Given the description of an element on the screen output the (x, y) to click on. 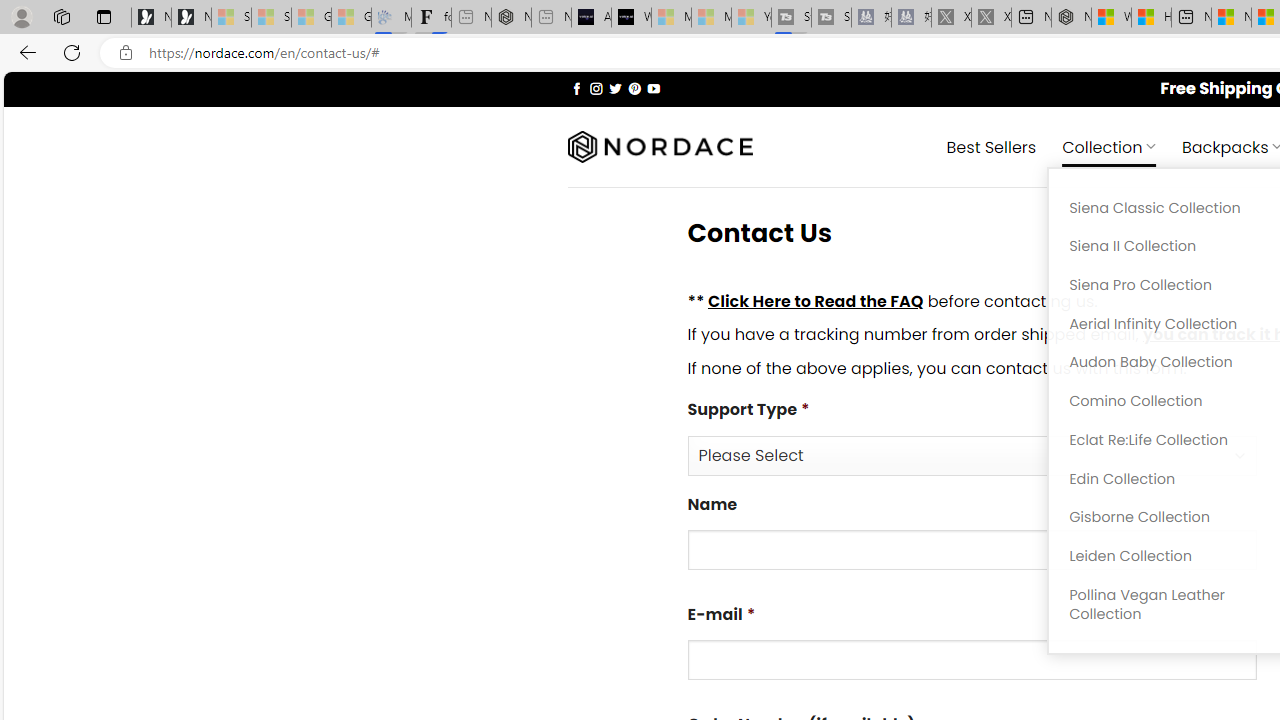
 Best Sellers (990, 146)
Support Type* (971, 454)
  Best Sellers (990, 146)
AI Voice Changer for PC and Mac - Voice.ai (591, 17)
Name (971, 549)
